Given the description of an element on the screen output the (x, y) to click on. 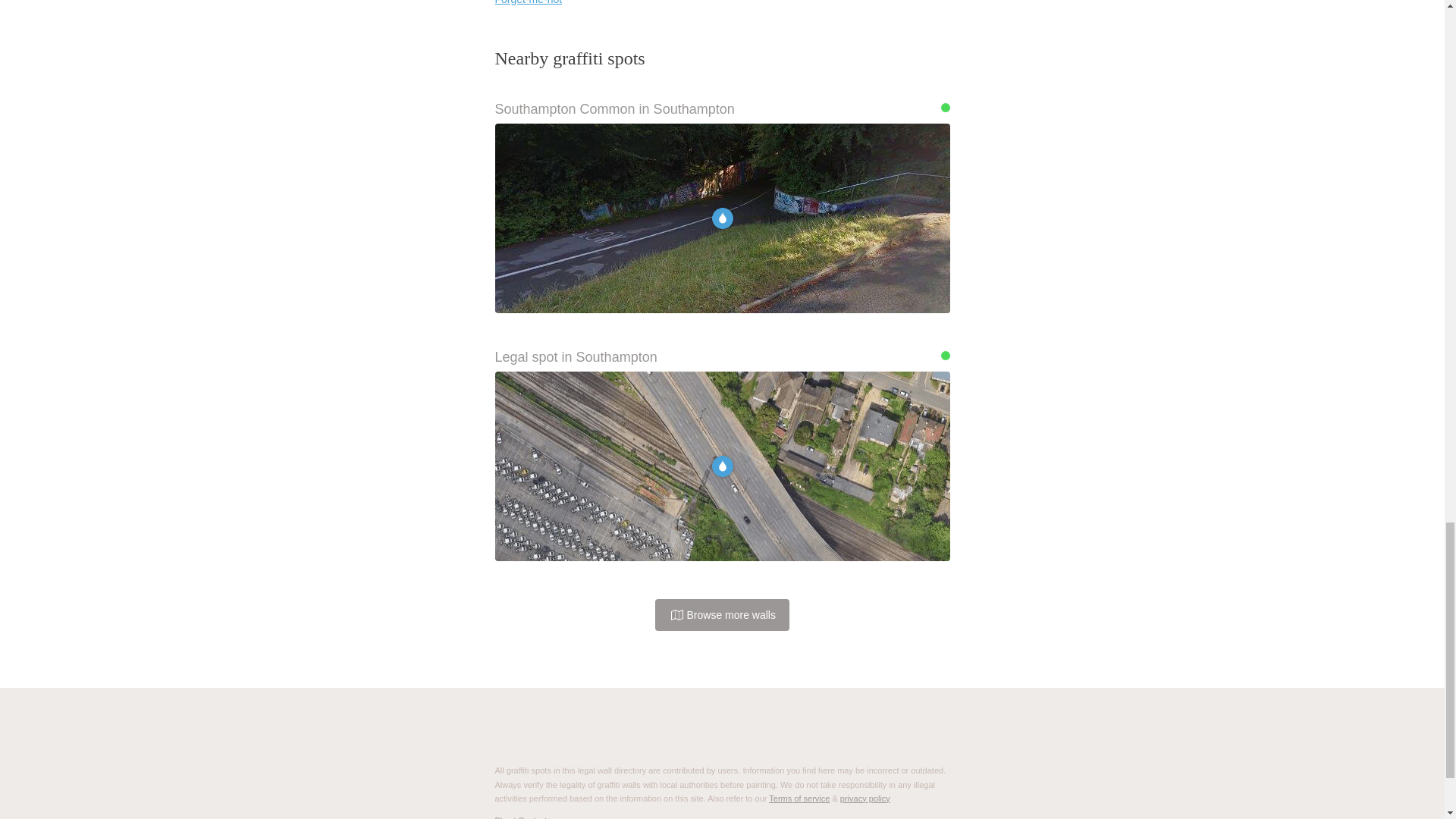
Browse more walls (722, 614)
Terms of service (798, 798)
Contact (532, 817)
Southampton Common in Southampton (722, 109)
Blog (503, 817)
Legal spot in Southampton (722, 357)
privacy policy (864, 798)
Forget-me-not (528, 2)
